Given the description of an element on the screen output the (x, y) to click on. 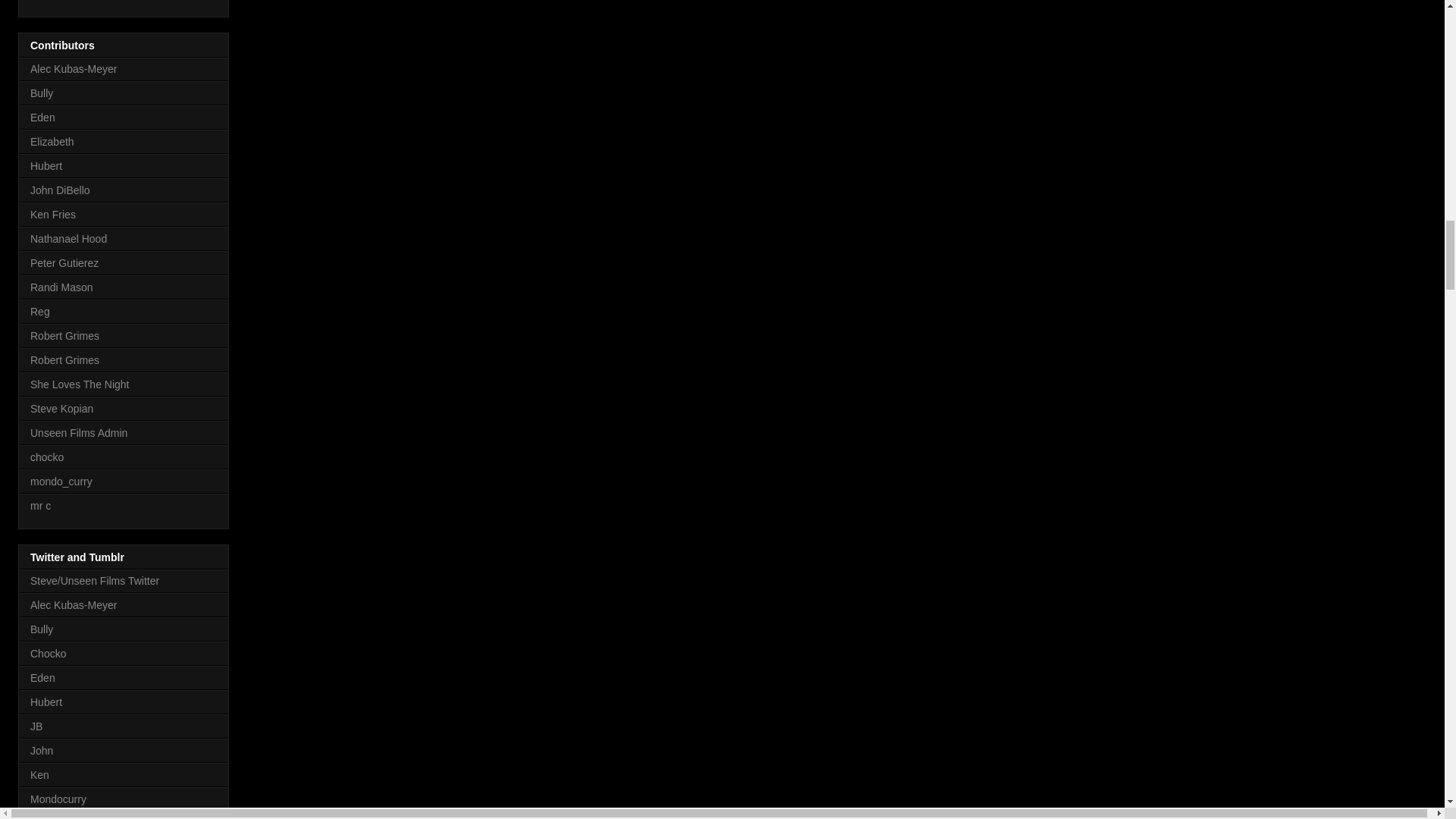
Randi Mason (61, 287)
Peter Gutierez (64, 263)
John DiBello (60, 190)
Bully (41, 92)
Ken Fries (52, 214)
Alec Kubas-Meyer (73, 69)
Robert Grimes (64, 336)
Eden (42, 117)
Nathanael Hood (68, 238)
She Loves The Night (79, 384)
Reg (39, 311)
Elizabeth (52, 141)
Robert Grimes (64, 359)
Hubert (46, 165)
